Given the description of an element on the screen output the (x, y) to click on. 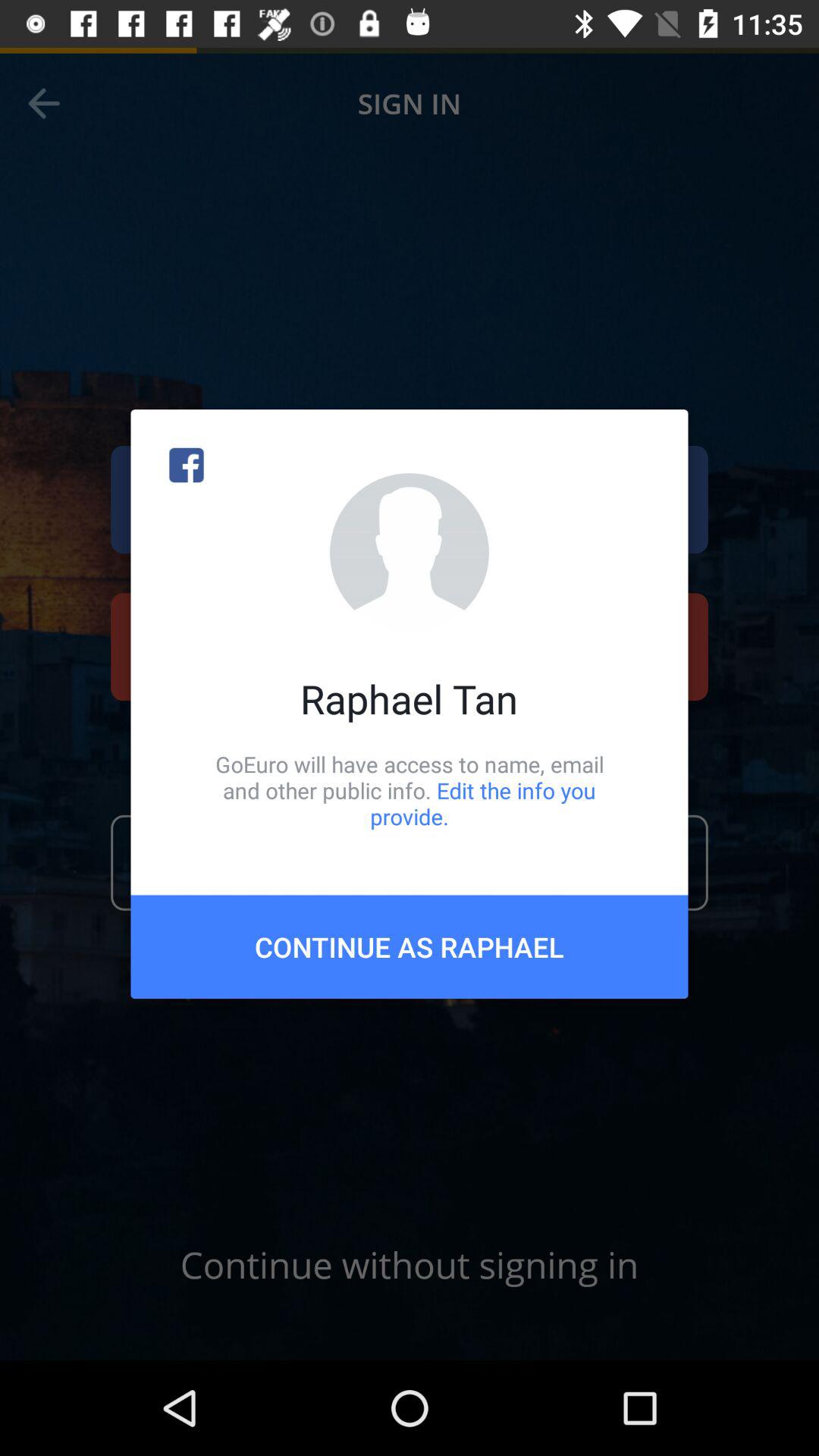
click the continue as raphael (409, 946)
